Given the description of an element on the screen output the (x, y) to click on. 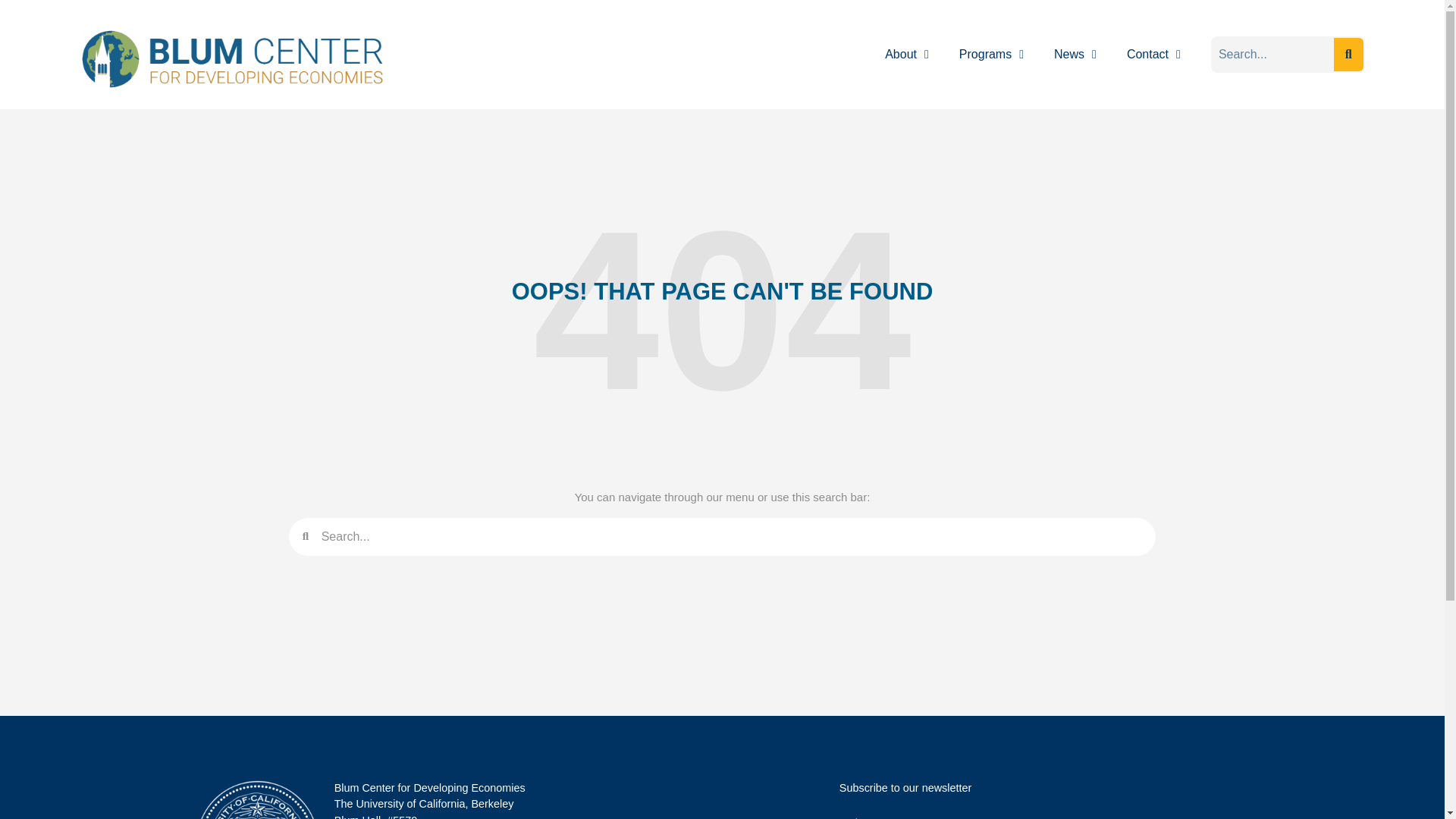
Programs (991, 54)
News (1075, 54)
Contact (1153, 54)
About (906, 54)
